Given the description of an element on the screen output the (x, y) to click on. 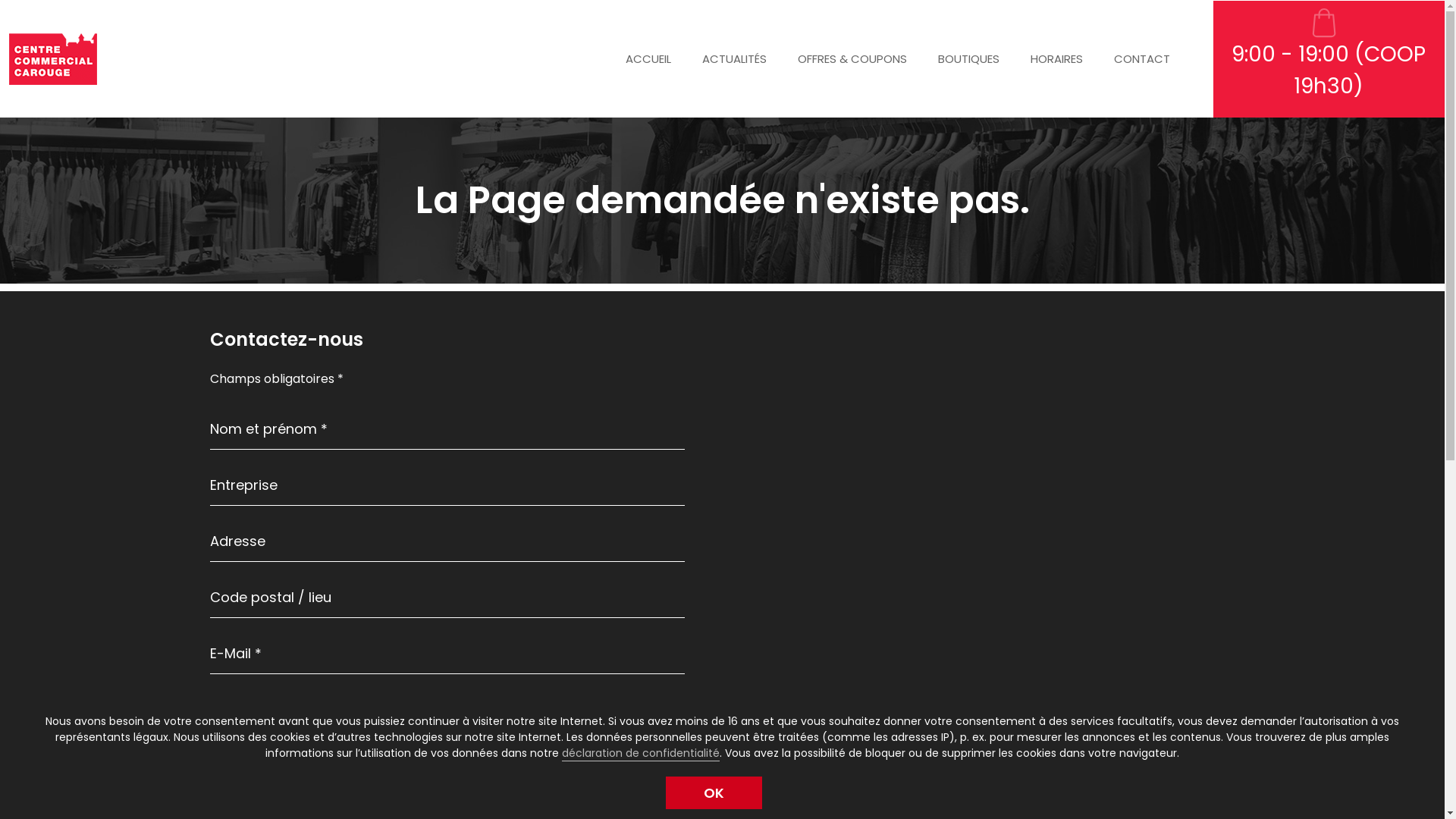
9:00 - 19:00 (COOP 19h30) Element type: text (1324, 58)
BOUTIQUES Element type: text (967, 59)
CONTACT Element type: text (1141, 59)
OFFRES & COUPONS Element type: text (852, 59)
ACCUEIL Element type: text (647, 59)
HORAIRES Element type: text (1055, 59)
OK Element type: text (713, 792)
